Given the description of an element on the screen output the (x, y) to click on. 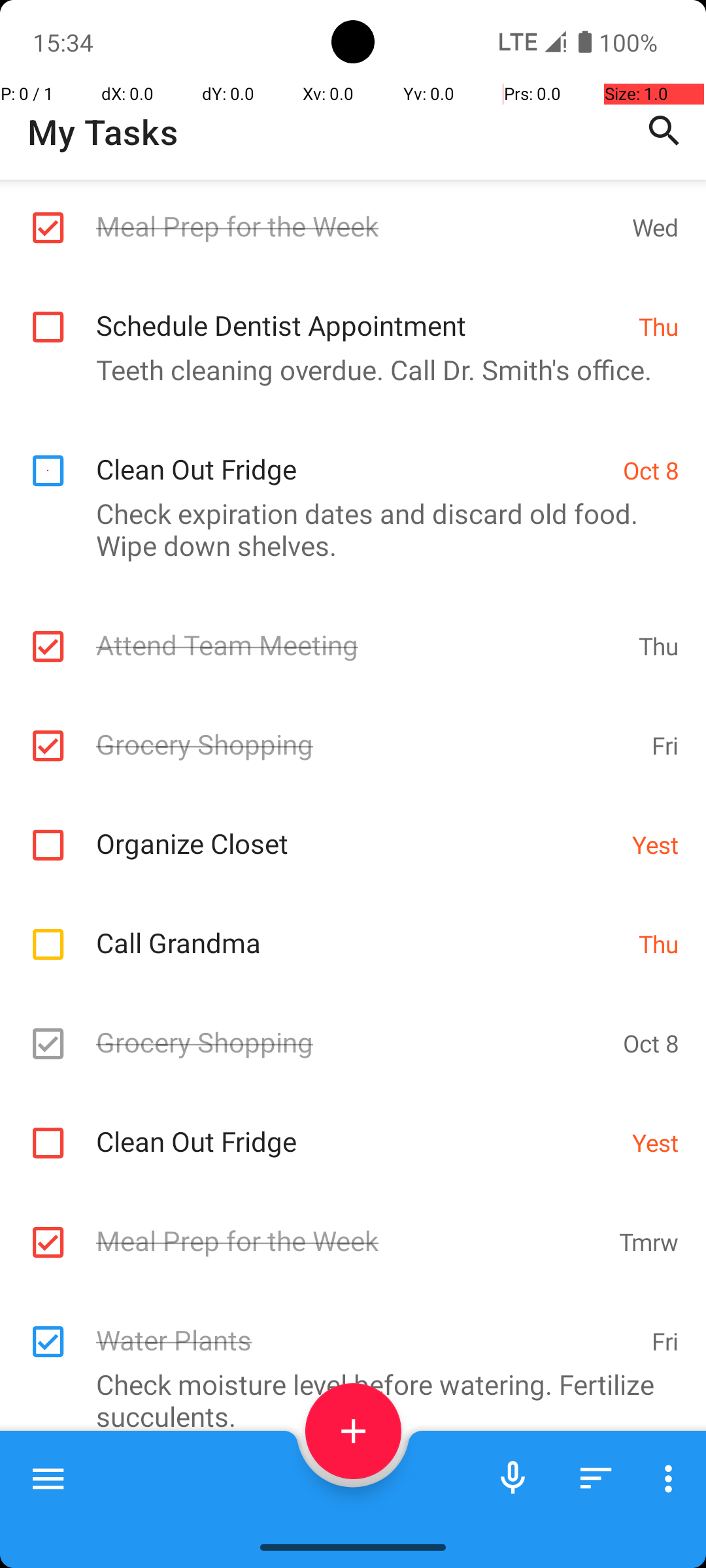
Check expiration dates and discard old food. Wipe down shelves. Element type: android.widget.TextView (346, 528)
Code Review Element type: android.widget.TextView (357, 1497)
